Given the description of an element on the screen output the (x, y) to click on. 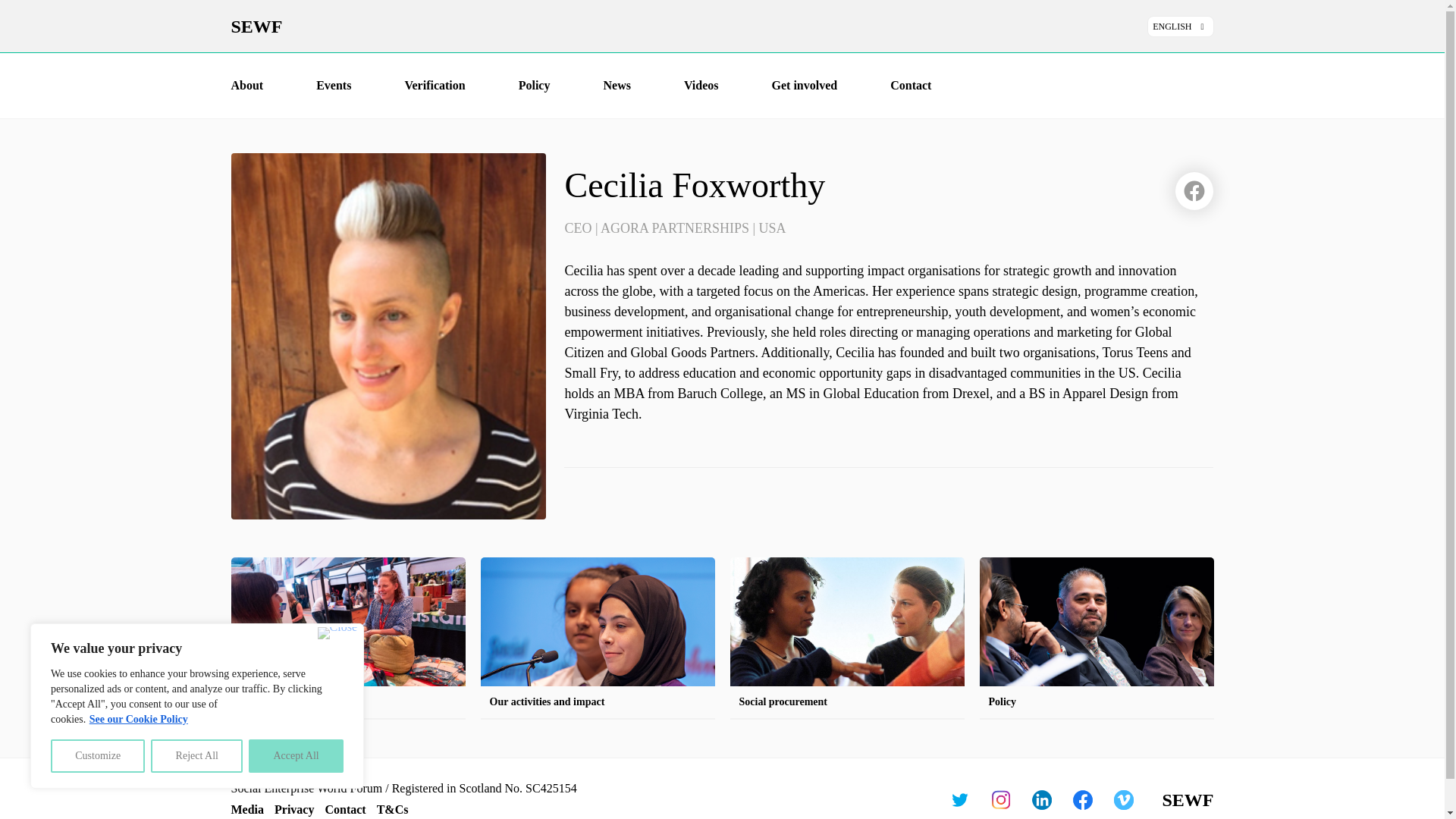
Events (332, 85)
See our Cookie Policy (138, 718)
ENGLISH (1179, 25)
About (246, 85)
Reject All (197, 756)
Accept All (295, 756)
Customize (97, 756)
SEWF (688, 26)
